Given the description of an element on the screen output the (x, y) to click on. 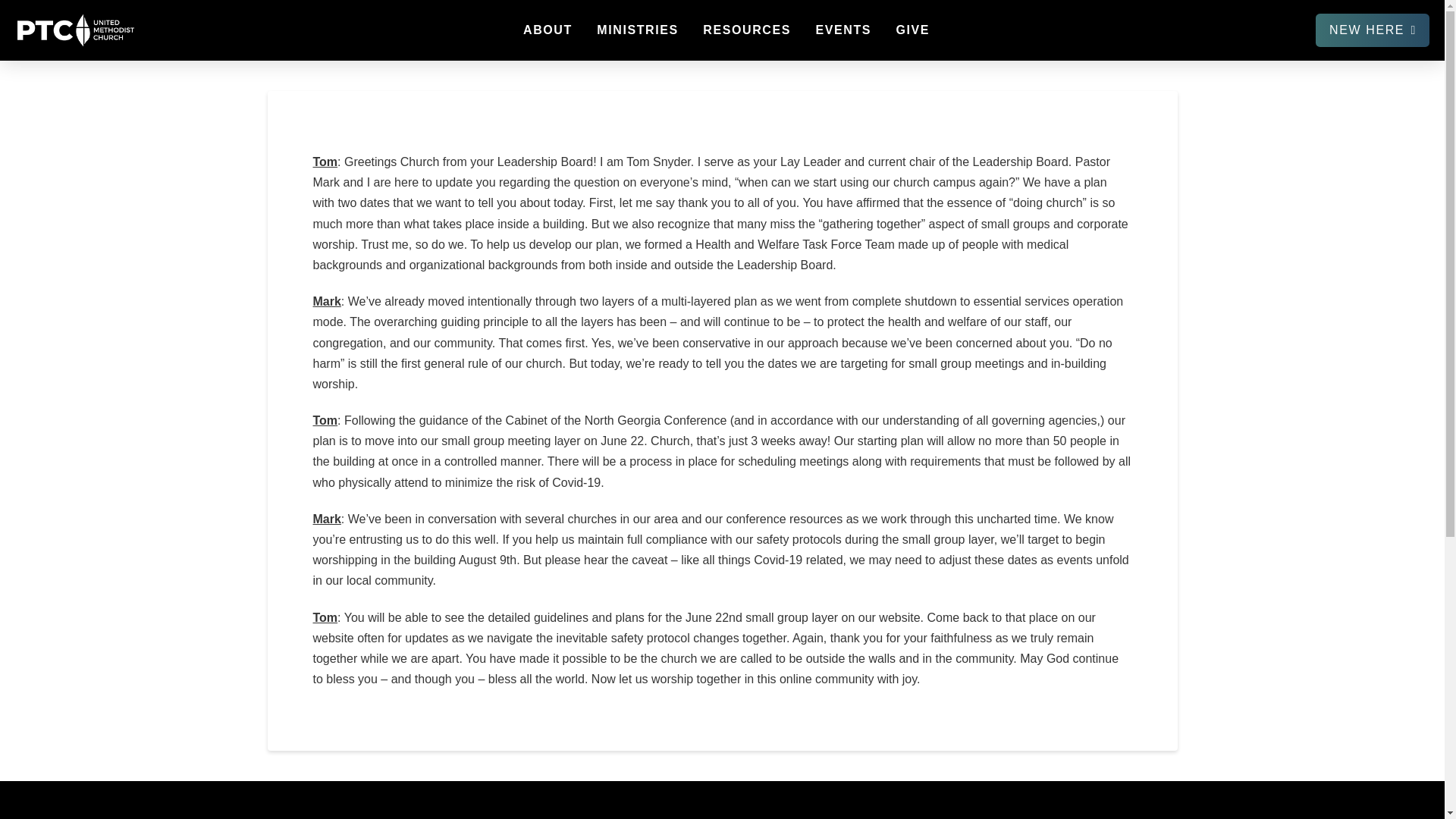
EVENTS (842, 30)
RESOURCES (746, 30)
MINISTRIES (636, 30)
ABOUT (547, 30)
NEW HERE (1372, 29)
GIVE (911, 30)
